Given the description of an element on the screen output the (x, y) to click on. 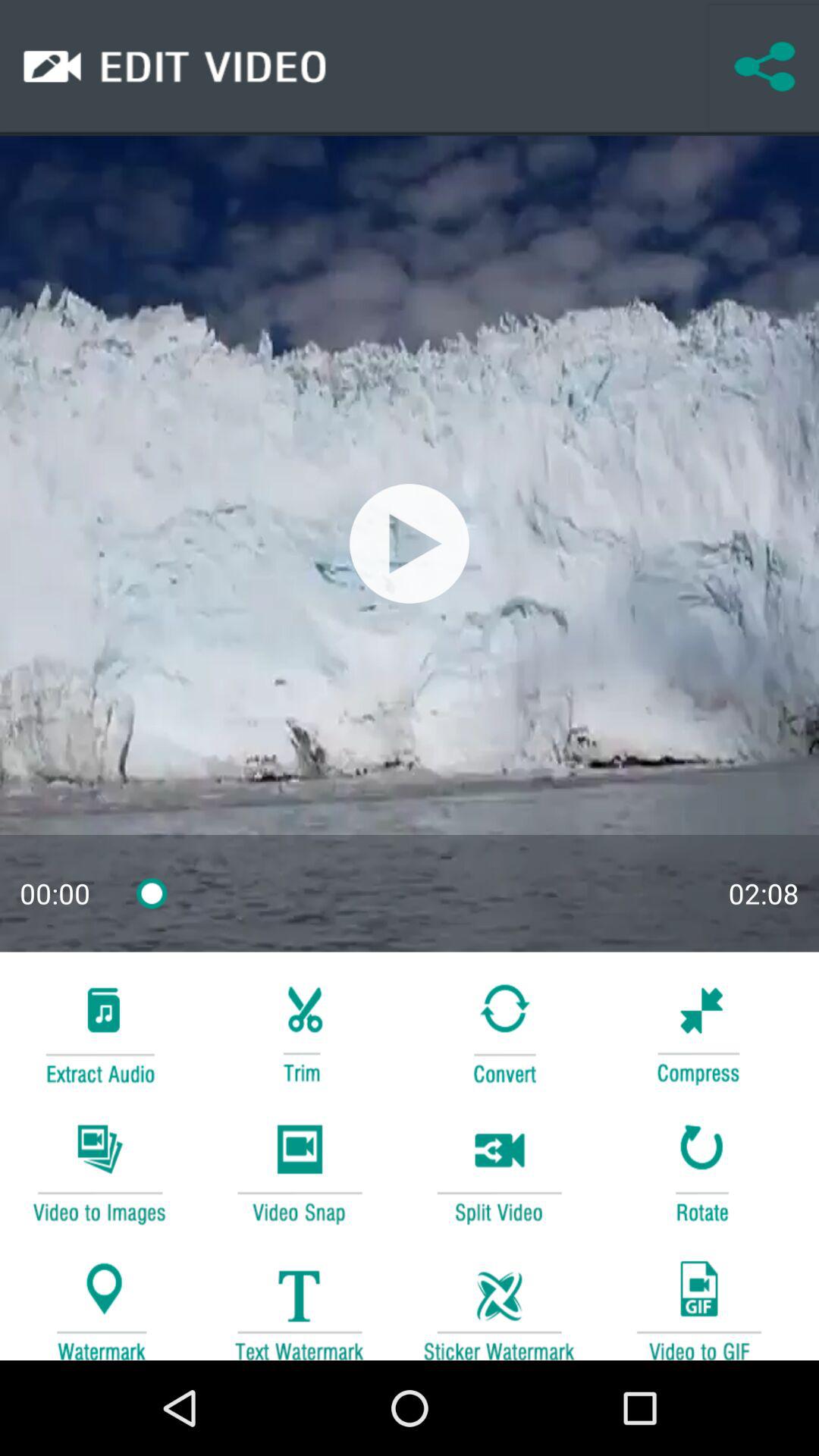
entry watermark (99, 1303)
